Given the description of an element on the screen output the (x, y) to click on. 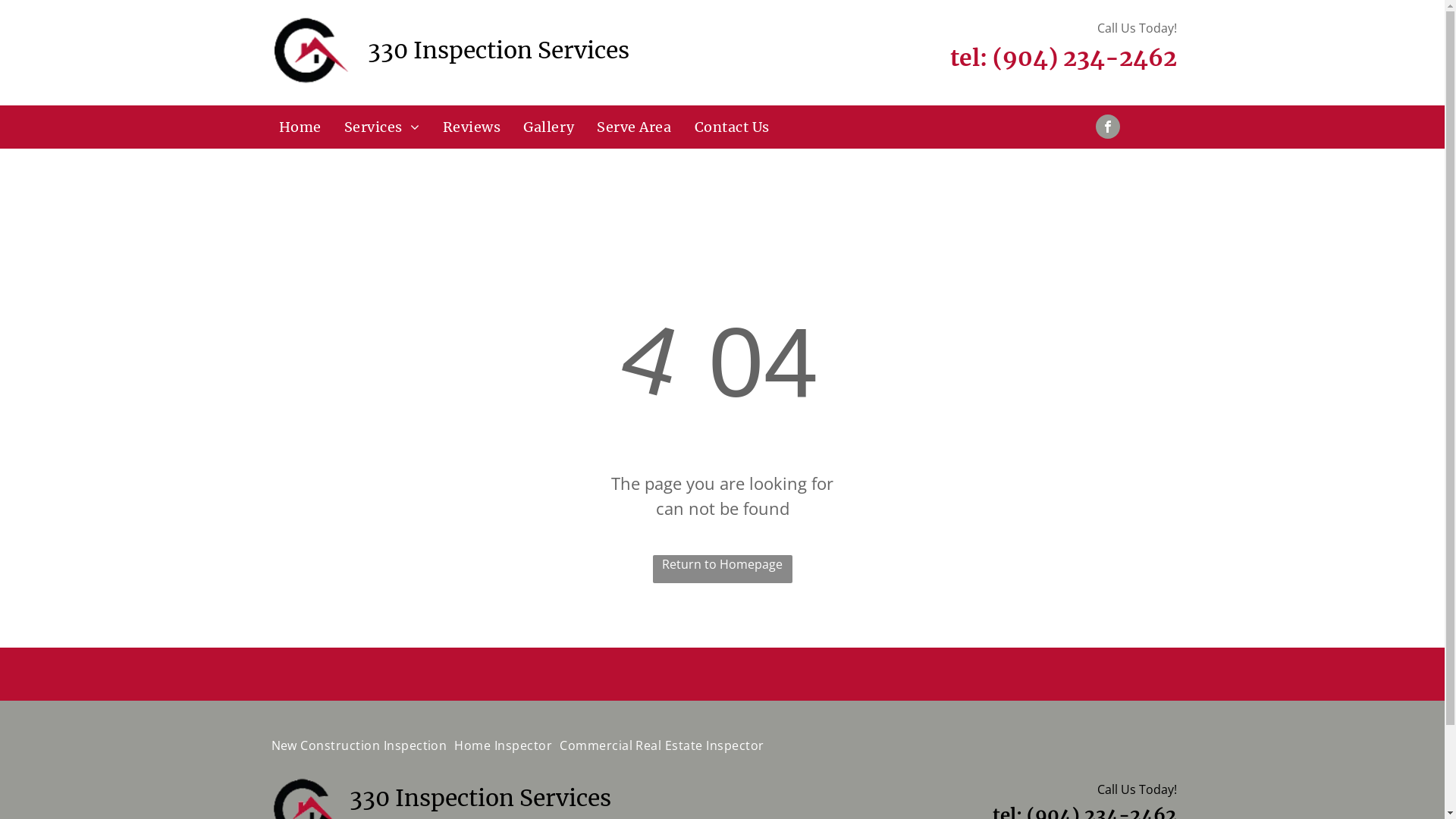
Contact Us Element type: text (732, 126)
Gallery Element type: text (548, 126)
Commercial Real Estate Inspector Element type: text (661, 745)
Home Element type: text (299, 126)
(904) 234-2462 Element type: text (1084, 57)
Services Element type: text (381, 126)
Home Inspector Element type: text (502, 745)
New Construction Inspection Element type: text (358, 745)
Reviews Element type: text (471, 126)
330 Inspection Services Element type: hover (307, 52)
Return to Homepage Element type: text (721, 569)
Serve Area Element type: text (633, 126)
